Given the description of an element on the screen output the (x, y) to click on. 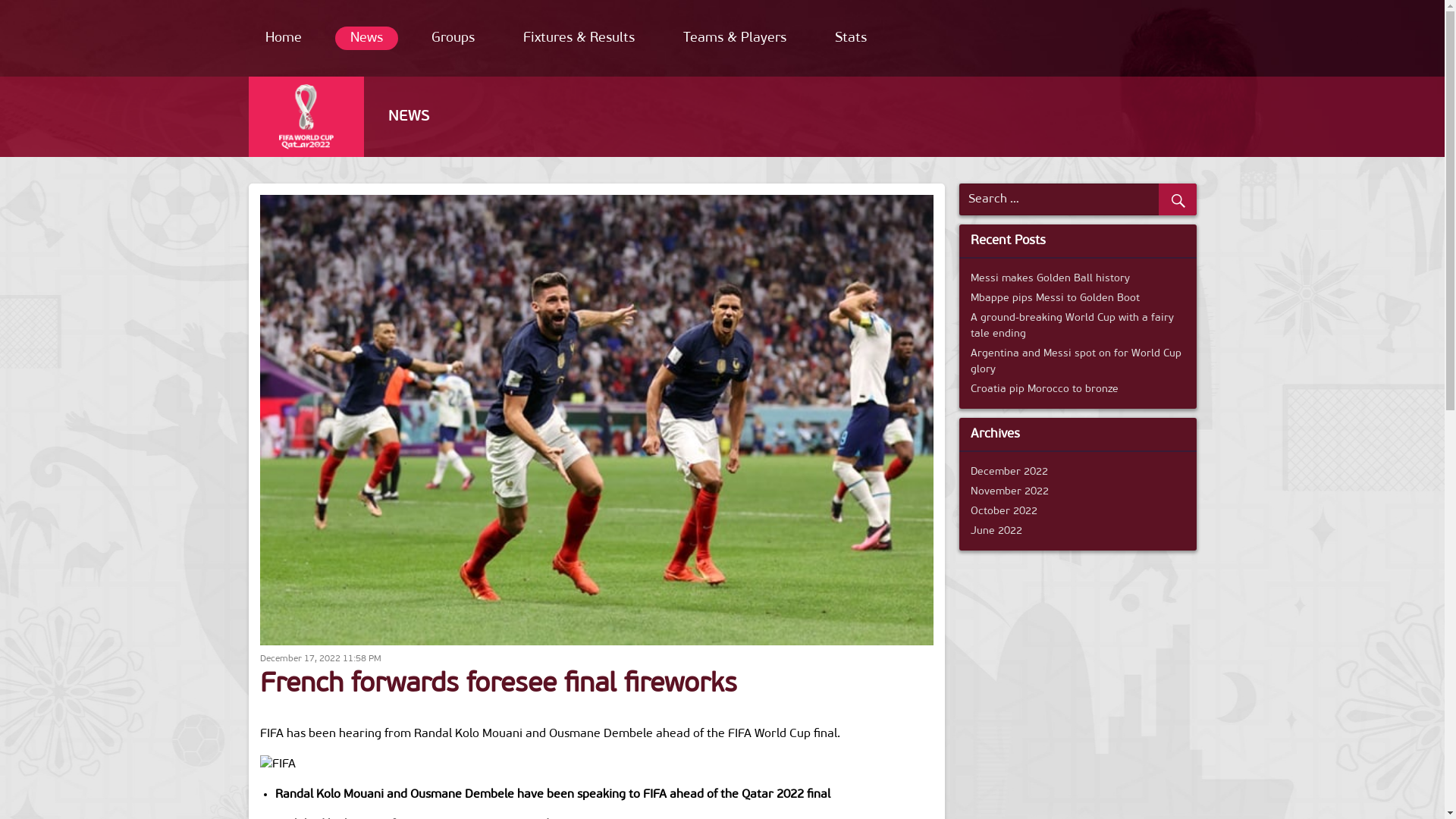
Croatia pip Morocco to bronze Element type: text (1044, 389)
October 2022 Element type: text (1003, 511)
Fixtures & Results Element type: text (578, 38)
News Element type: text (366, 38)
November 2022 Element type: text (1009, 491)
June 2022 Element type: text (996, 530)
Home Element type: text (283, 38)
Stats Element type: text (850, 38)
Mbappe pips Messi to Golden Boot Element type: text (1054, 298)
Argentina and Messi spot on for World Cup glory Element type: text (1075, 361)
December 2022 Element type: text (1009, 471)
Messi makes Golden Ball history Element type: text (1049, 278)
December 17, 2022 11:58 PM Element type: text (319, 658)
Teams & Players Element type: text (733, 38)
Groups Element type: text (452, 38)
A ground-breaking World Cup with a fairy tale ending Element type: text (1071, 325)
Search for: Element type: hover (1072, 199)
